Given the description of an element on the screen output the (x, y) to click on. 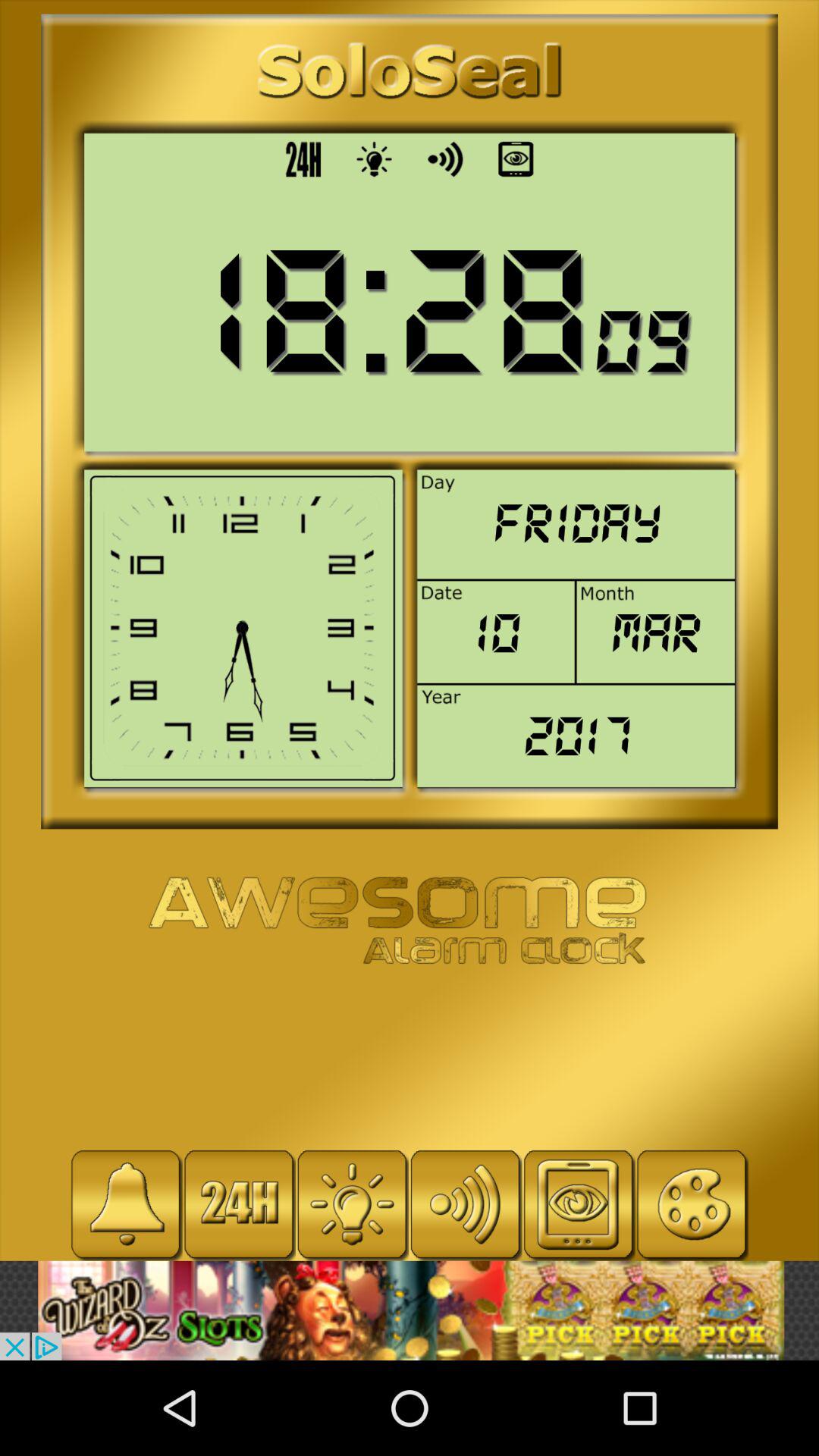
go to notification (125, 1203)
